Given the description of an element on the screen output the (x, y) to click on. 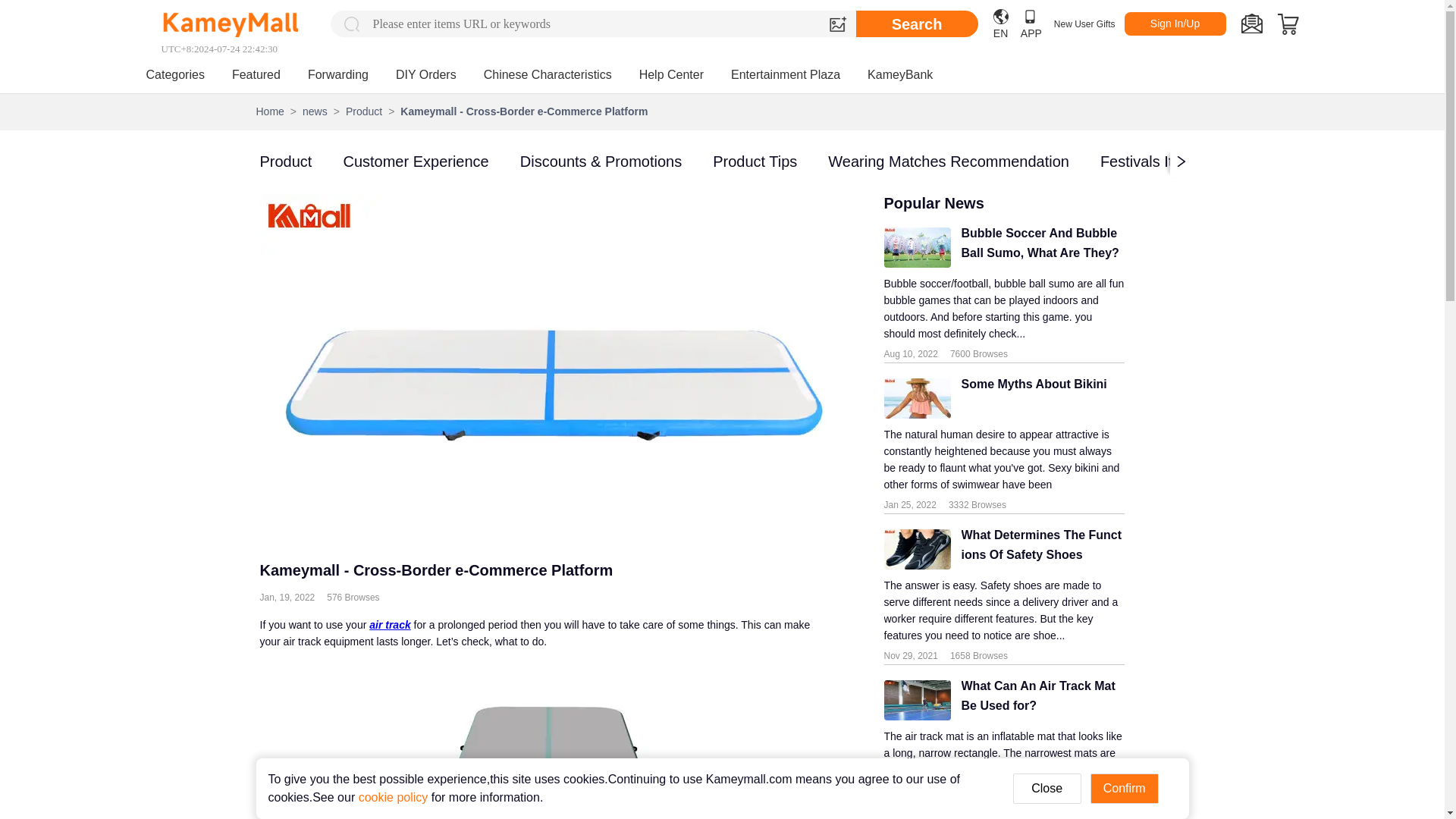
DIY Orders (426, 74)
Chinese Characteristics (547, 74)
Product (285, 161)
Wearing Matches Recommendation (948, 161)
Product (363, 111)
What Determines The Functions Of Safety Shoes (1037, 549)
Customer Experience (414, 161)
Product Tips (754, 161)
Bubble Soccer And Bubble Ball Sumo, What Are They? (1037, 247)
Created with Pixso. (1251, 23)
Home (269, 111)
Entertainment Plaza (785, 74)
news (314, 111)
What Can An Air Track Mat Be Used for? (1037, 699)
air track (389, 624)
